Given the description of an element on the screen output the (x, y) to click on. 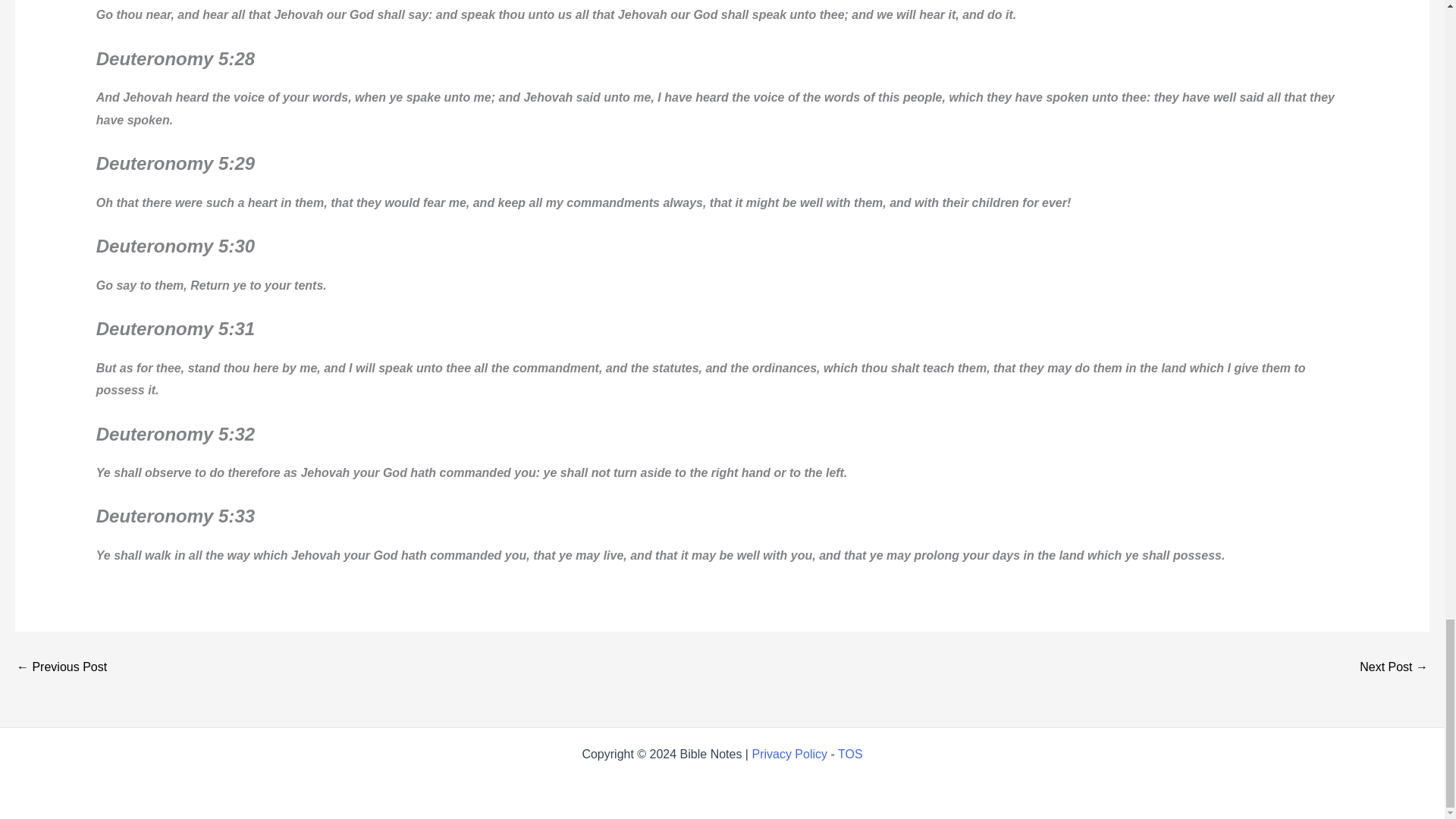
Deuteronomy 6 Notes, Meaning, and Commentary (61, 666)
Deuteronomy 4 Notes, Meaning, and Commentary (1393, 666)
